Given the description of an element on the screen output the (x, y) to click on. 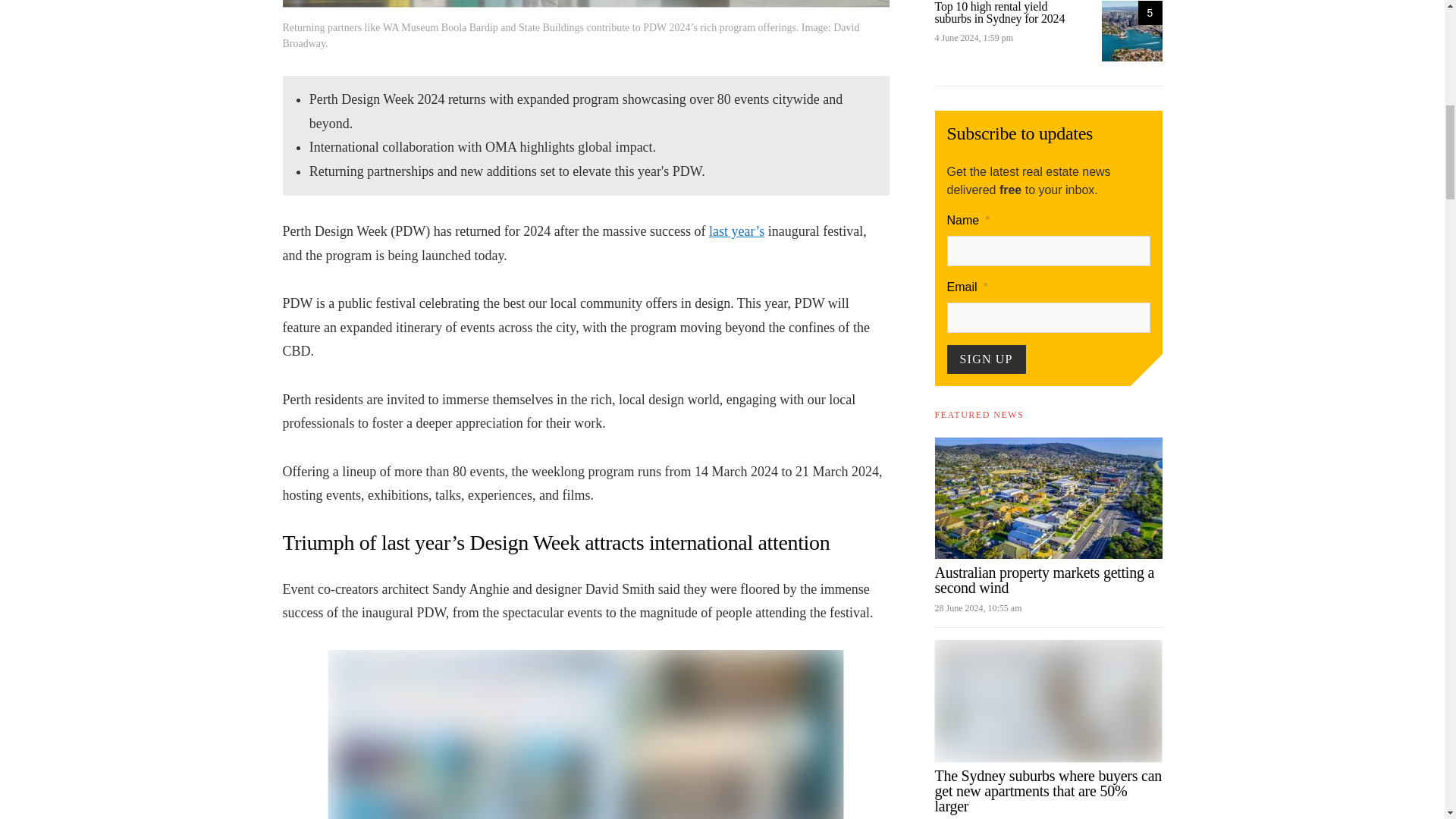
Sign up (985, 358)
